Given the description of an element on the screen output the (x, y) to click on. 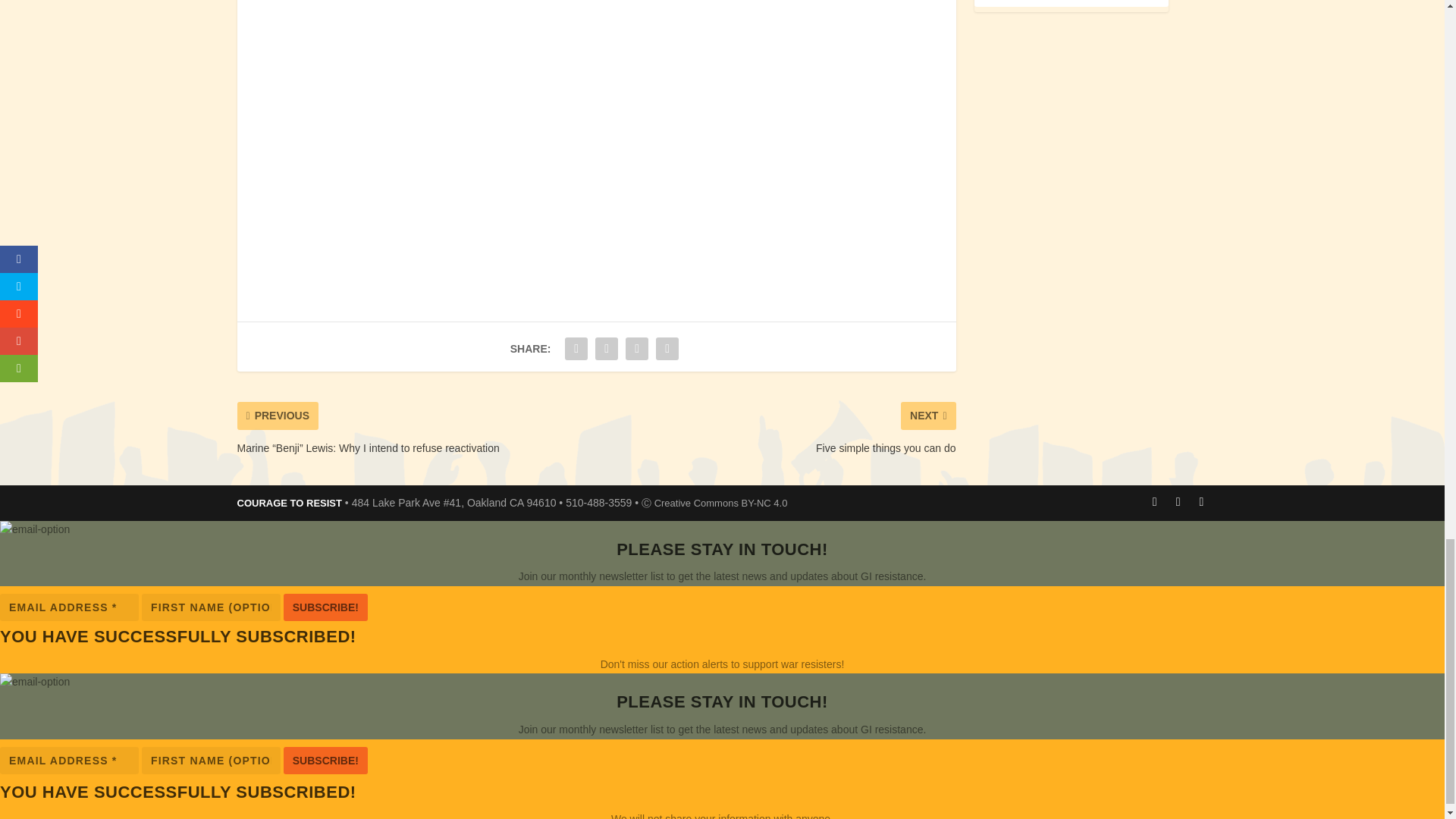
SUBSCRIBE! (325, 606)
SUBSCRIBE! (325, 759)
